Given the description of an element on the screen output the (x, y) to click on. 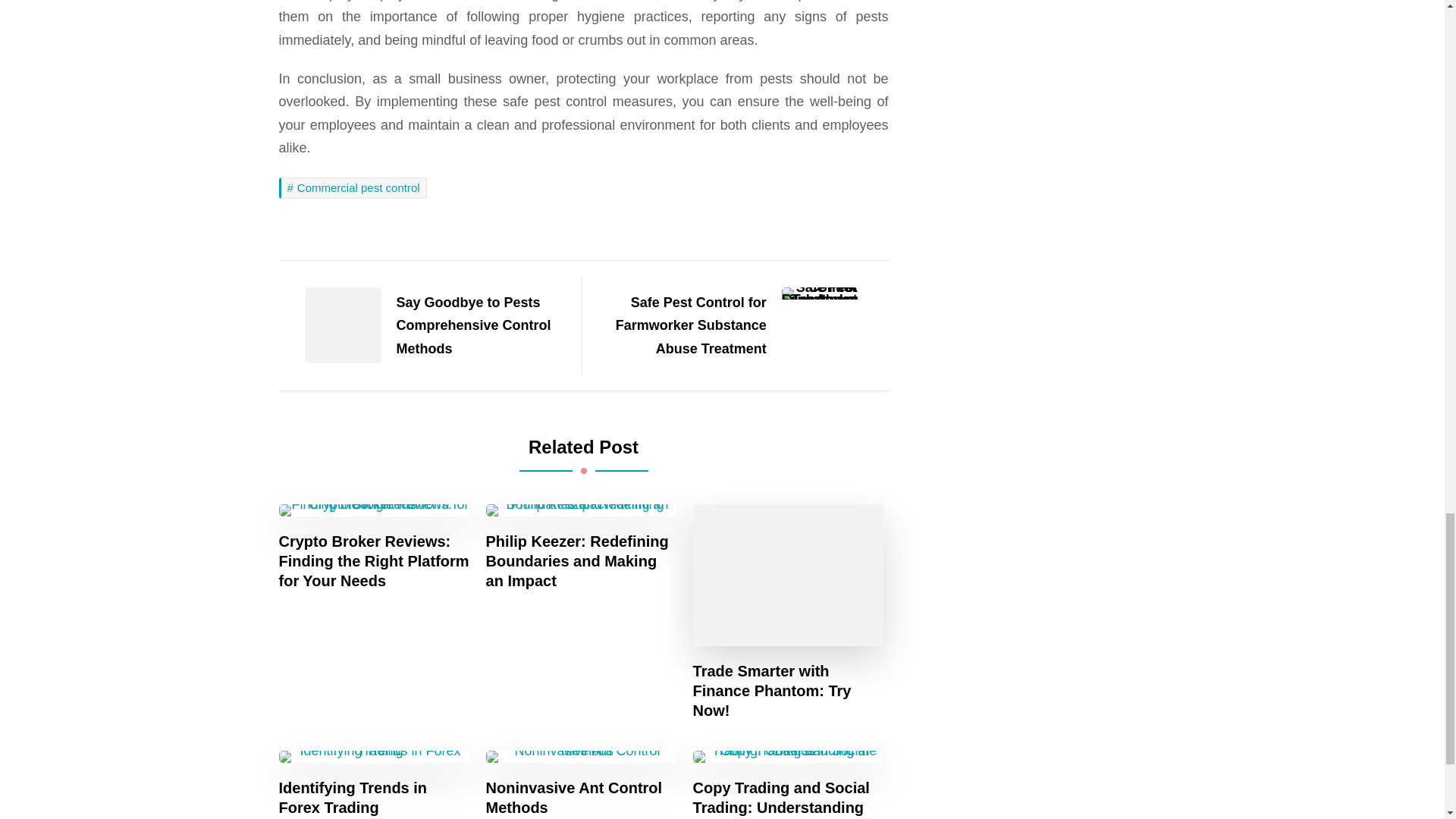
Commercial pest control (352, 188)
Say Goodbye to Pests Comprehensive Control Methods (421, 326)
Safe Pest Control for Farmworker Substance Abuse Treatment (740, 326)
